Given the description of an element on the screen output the (x, y) to click on. 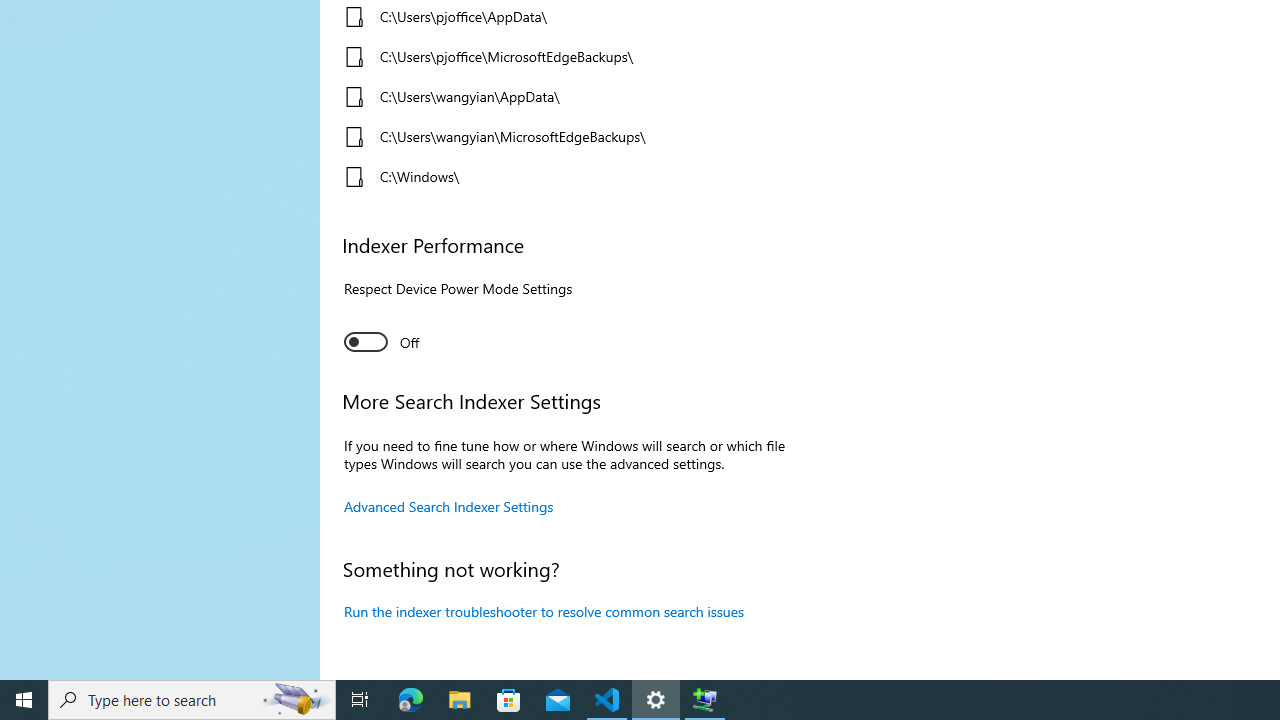
Extensible Wizards Host Process - 1 running window (704, 699)
C:\Windows\ (563, 176)
